Given the description of an element on the screen output the (x, y) to click on. 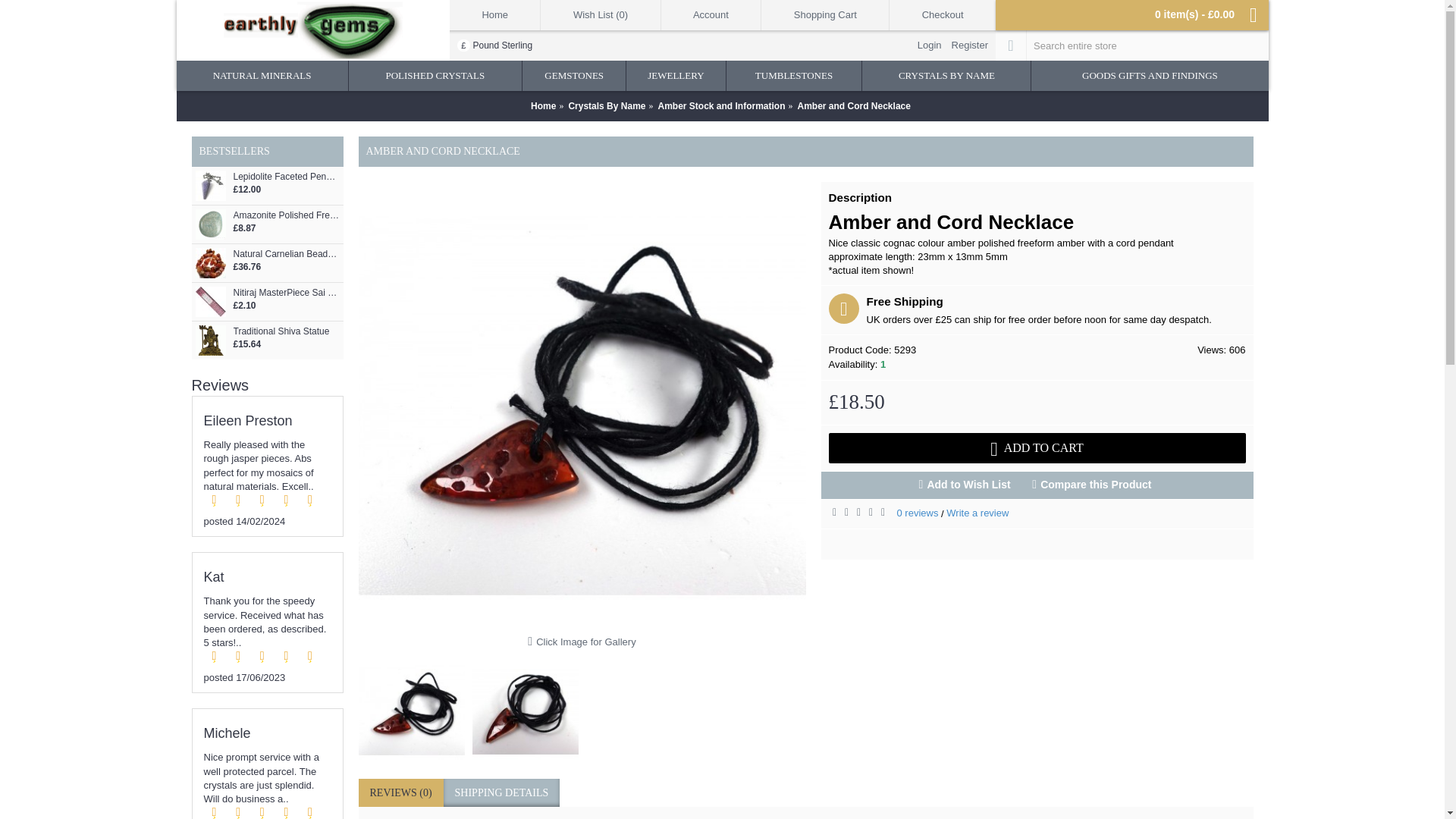
NATURAL MINERALS (261, 75)
Shopping Cart (825, 15)
Traditional Shiva Statue (210, 340)
Amazonite Polished Freeform Shape 51mm (210, 224)
Checkout (942, 15)
Lepidolite Faceted Pendulum (210, 185)
Amber and Cord Necklace (411, 710)
Nitiraj MasterPiece Sai Incense (210, 301)
Account (711, 15)
Natural Carnelian Beads - for Jewellery Making (210, 263)
Login (928, 45)
Register (969, 45)
Home (494, 15)
Earthly Gems (311, 29)
